Given the description of an element on the screen output the (x, y) to click on. 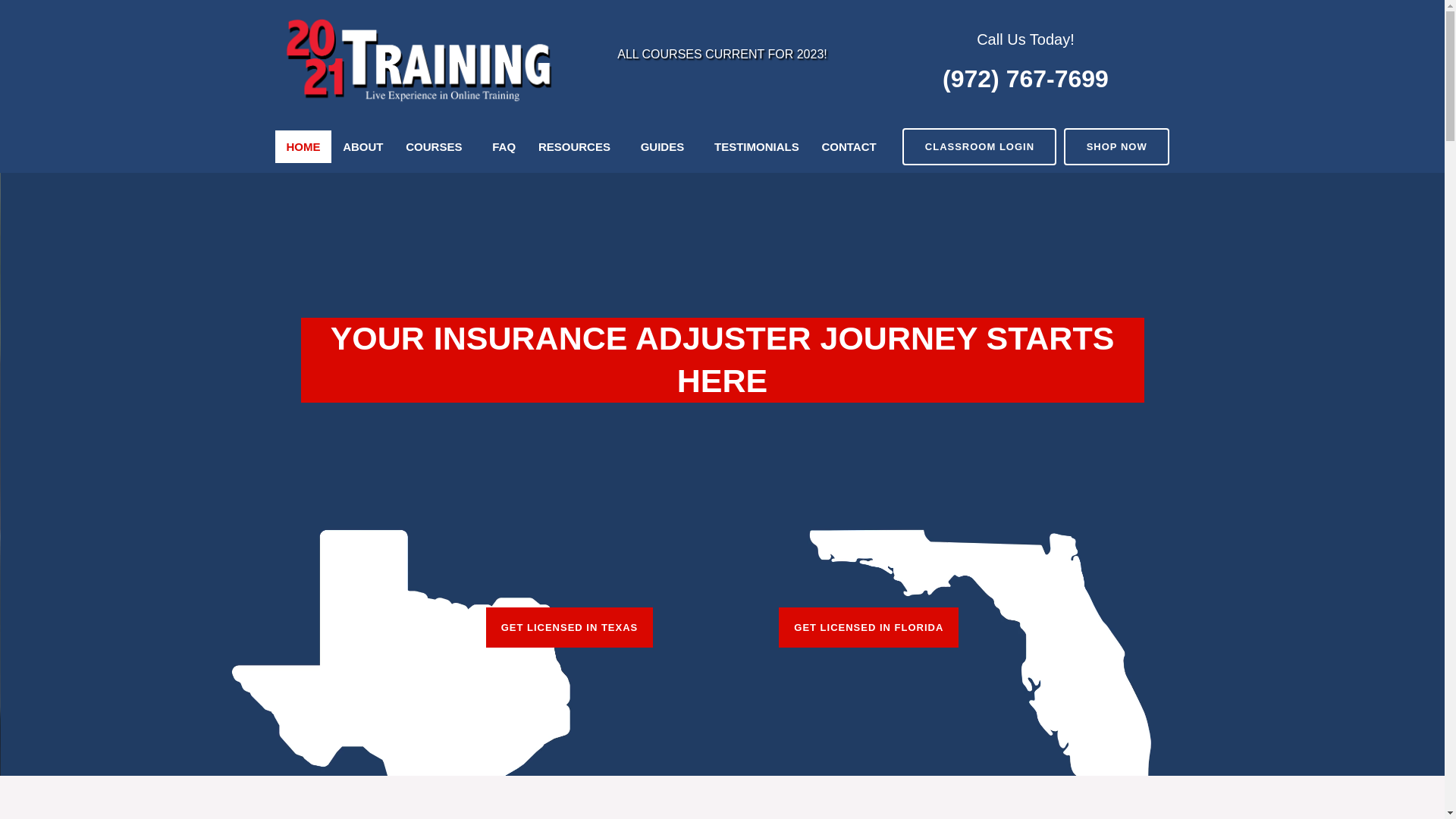
FAQ Element type: text (503, 146)
SHOP NOW Element type: text (1116, 146)
GET LICENSED IN FLORIDA Element type: text (868, 627)
TESTIMONIALS Element type: text (755, 146)
GUIDES Element type: text (665, 146)
GET LICENSED IN TEXAS Element type: text (569, 627)
COURSES Element type: text (437, 146)
ABOUT Element type: text (362, 146)
CLASSROOM LOGIN Element type: text (979, 146)
CONTACT Element type: text (849, 146)
RESOURCES Element type: text (578, 146)
HOME Element type: text (302, 146)
(972) 767-7699 Element type: text (1025, 78)
